Given the description of an element on the screen output the (x, y) to click on. 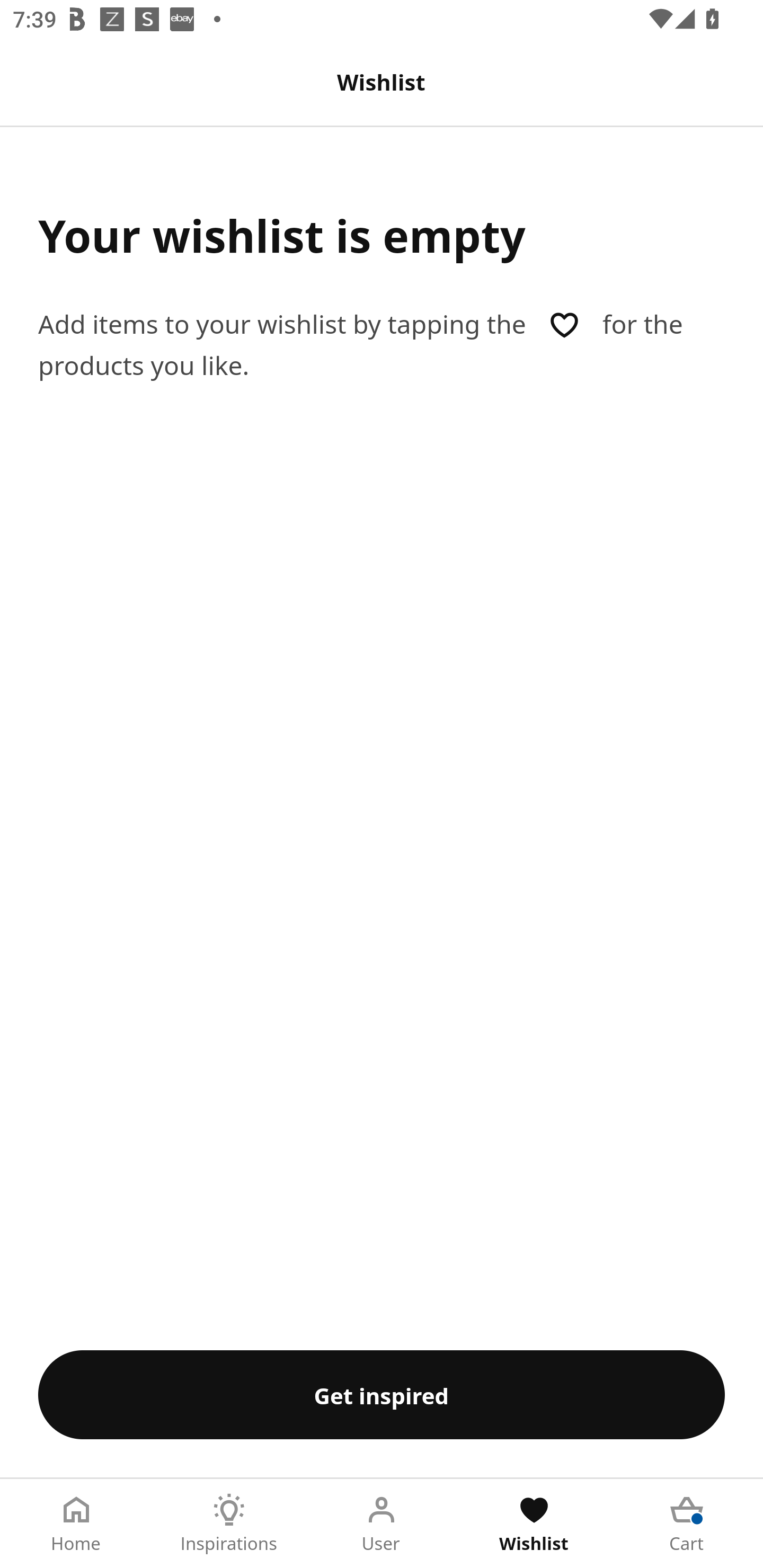
Get inspired (381, 1394)
Home
Tab 1 of 5 (76, 1522)
Inspirations
Tab 2 of 5 (228, 1522)
User
Tab 3 of 5 (381, 1522)
Wishlist
Tab 4 of 5 (533, 1522)
Cart
Tab 5 of 5 (686, 1522)
